Given the description of an element on the screen output the (x, y) to click on. 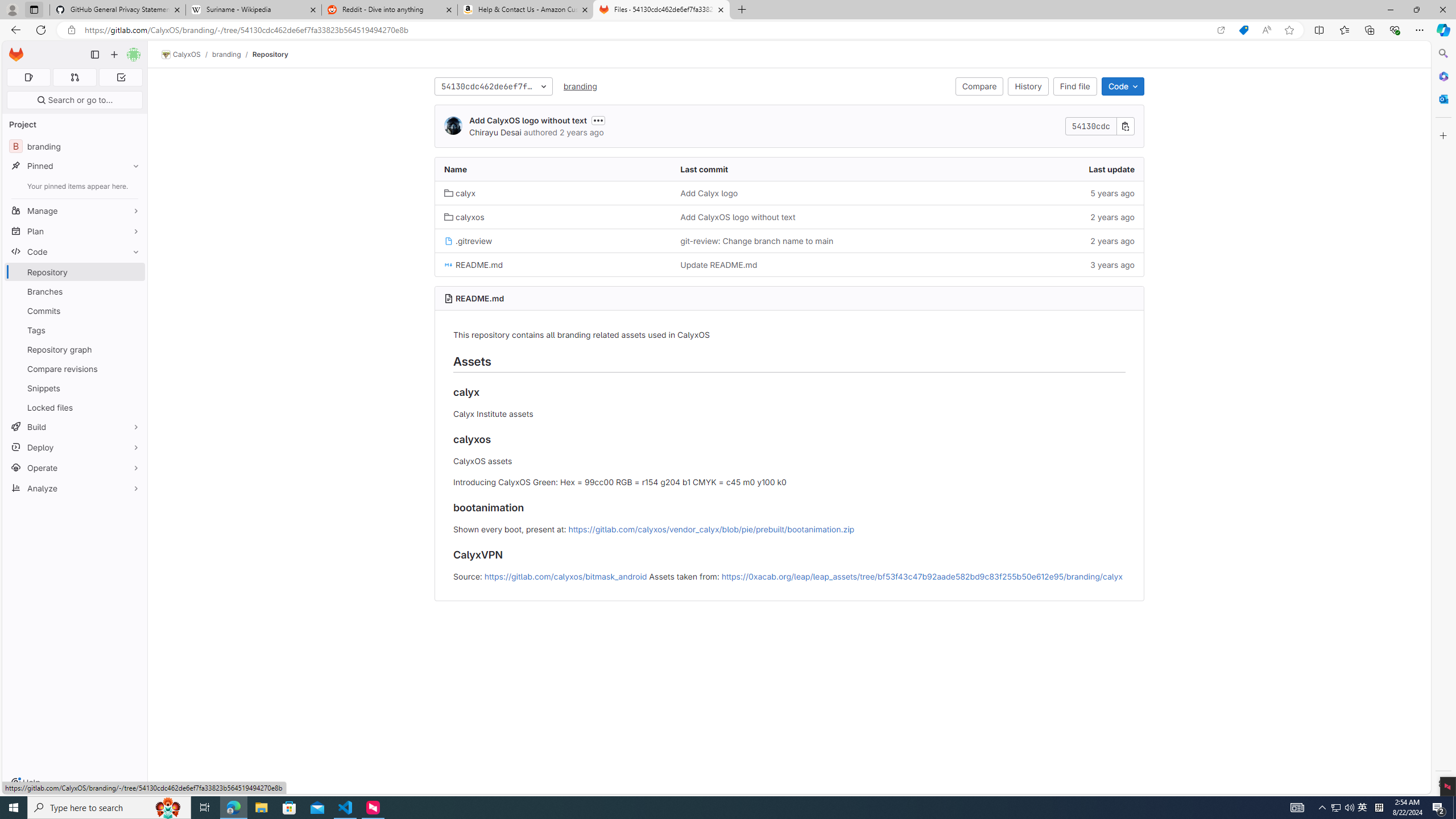
Side bar (1443, 418)
Analyze (74, 488)
Branches (74, 290)
Primary navigation sidebar (94, 54)
Update README.md (718, 264)
To-Do list 0 (120, 76)
Locked files (74, 407)
3 years ago (1025, 264)
Class: tree-item (789, 264)
Class: s16 position-relative file-icon (448, 264)
Compare revisions (74, 368)
Analyze (74, 488)
